Given the description of an element on the screen output the (x, y) to click on. 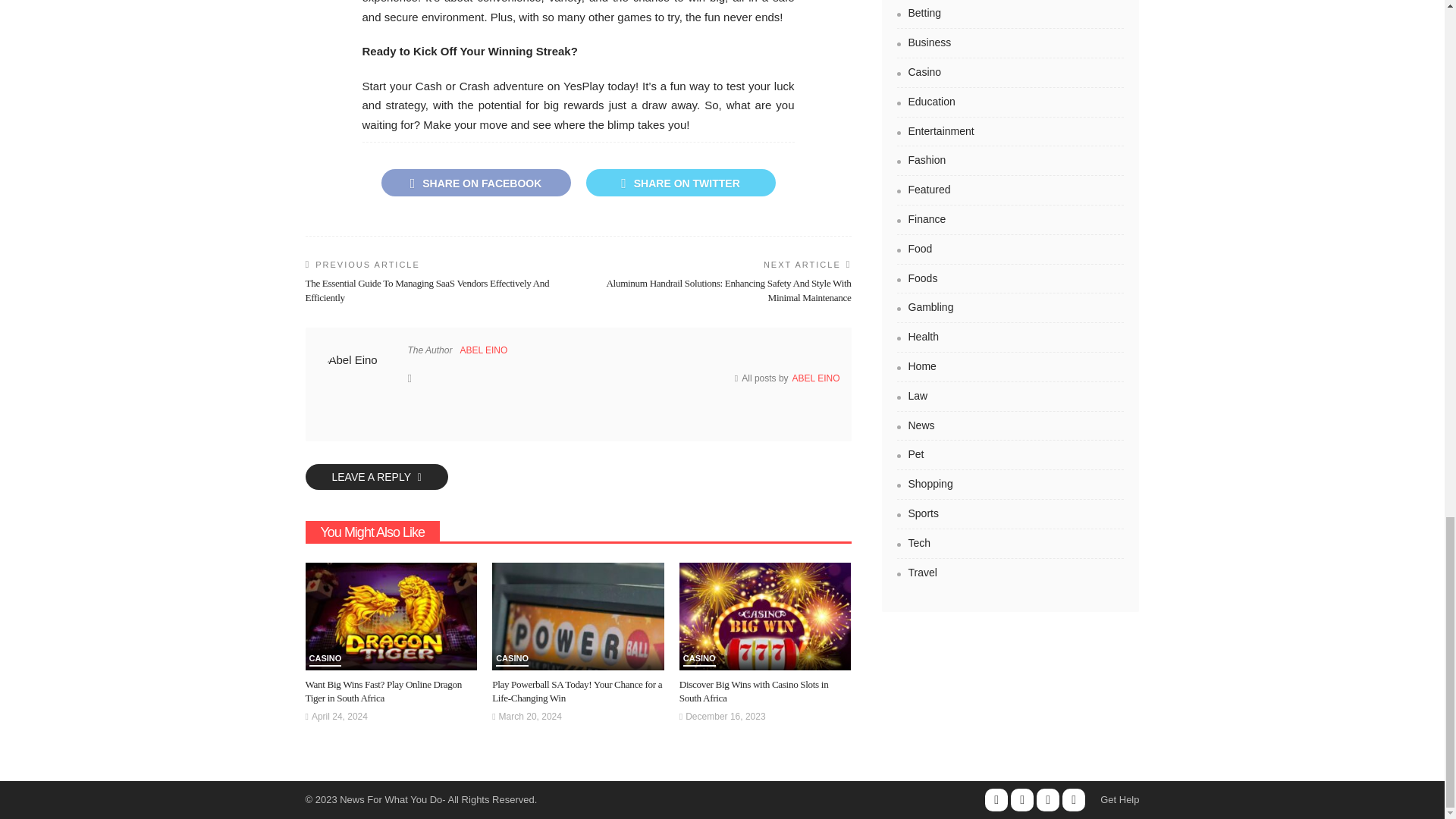
Want Big Wins Fast? Play Online Dragon Tiger in South Africa (390, 616)
Casino (325, 660)
Want Big Wins Fast? Play Online Dragon Tiger in South Africa (382, 690)
